Given the description of an element on the screen output the (x, y) to click on. 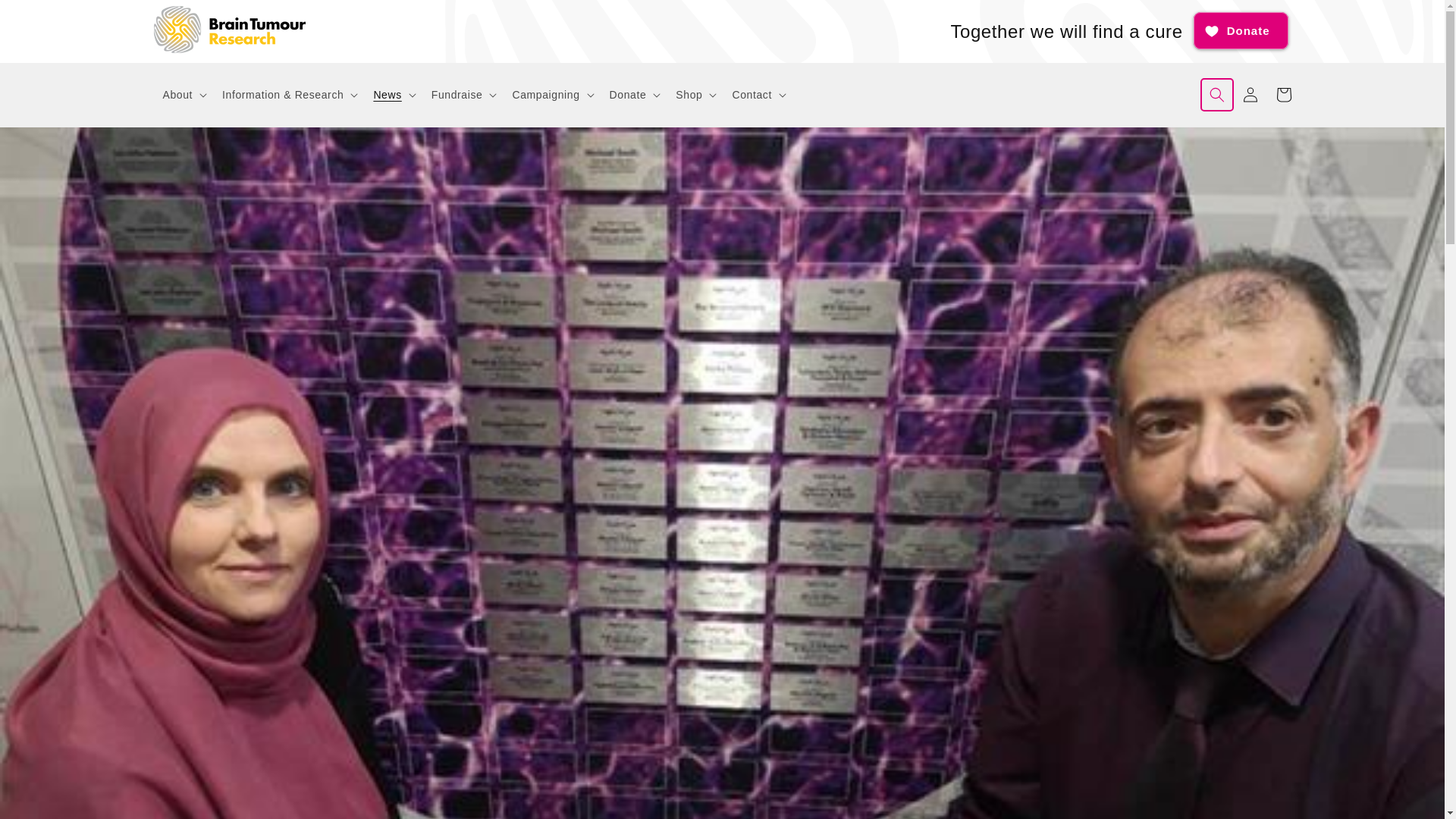
Donate (1241, 30)
Skip to content (45, 17)
